Given the description of an element on the screen output the (x, y) to click on. 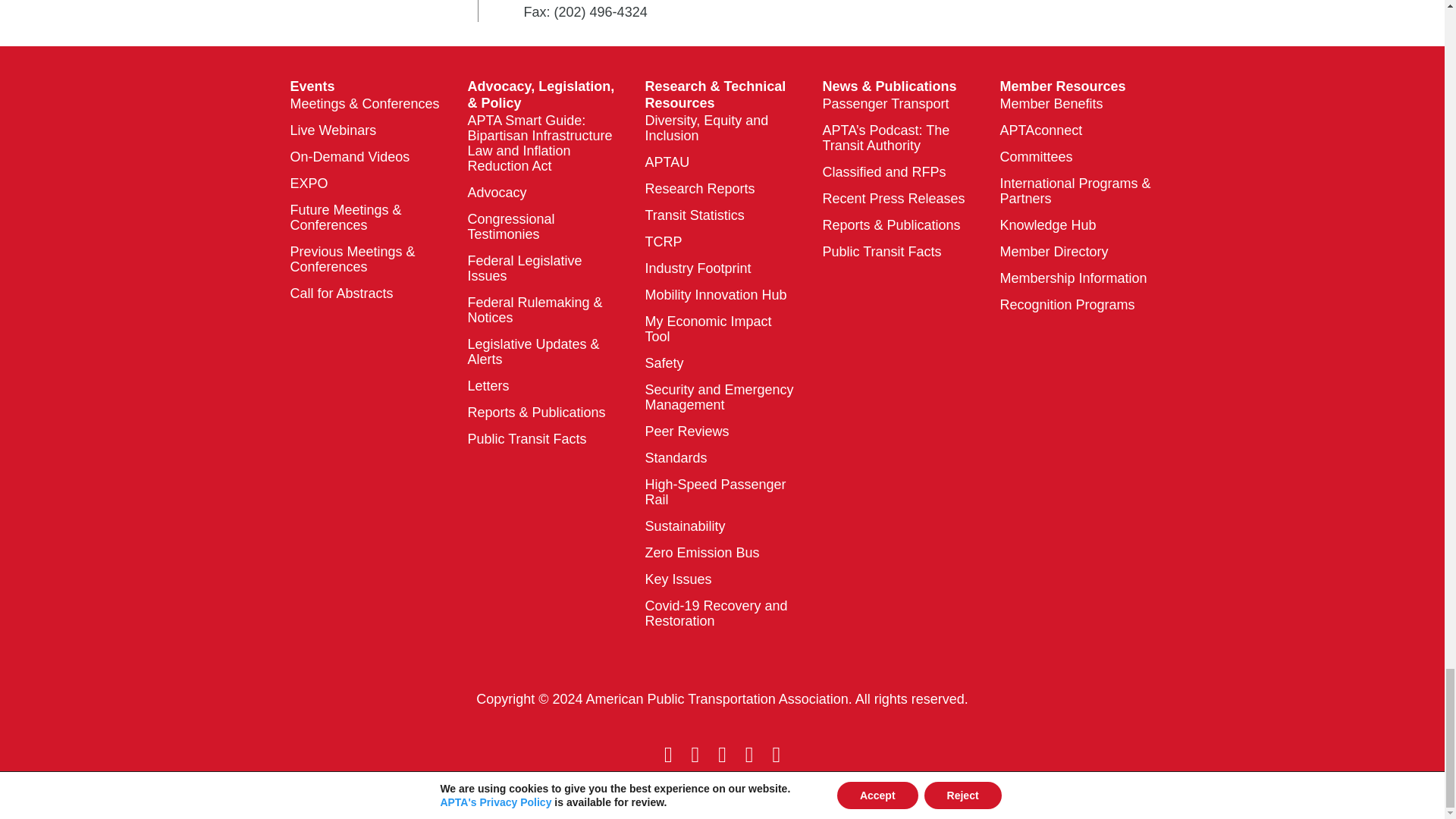
APTA on Facebook (667, 754)
APTA on Twitter (695, 754)
APTA on Instagram (775, 754)
APTA on LinkedIn (749, 754)
APTAtv on YouTube (721, 754)
